Given the description of an element on the screen output the (x, y) to click on. 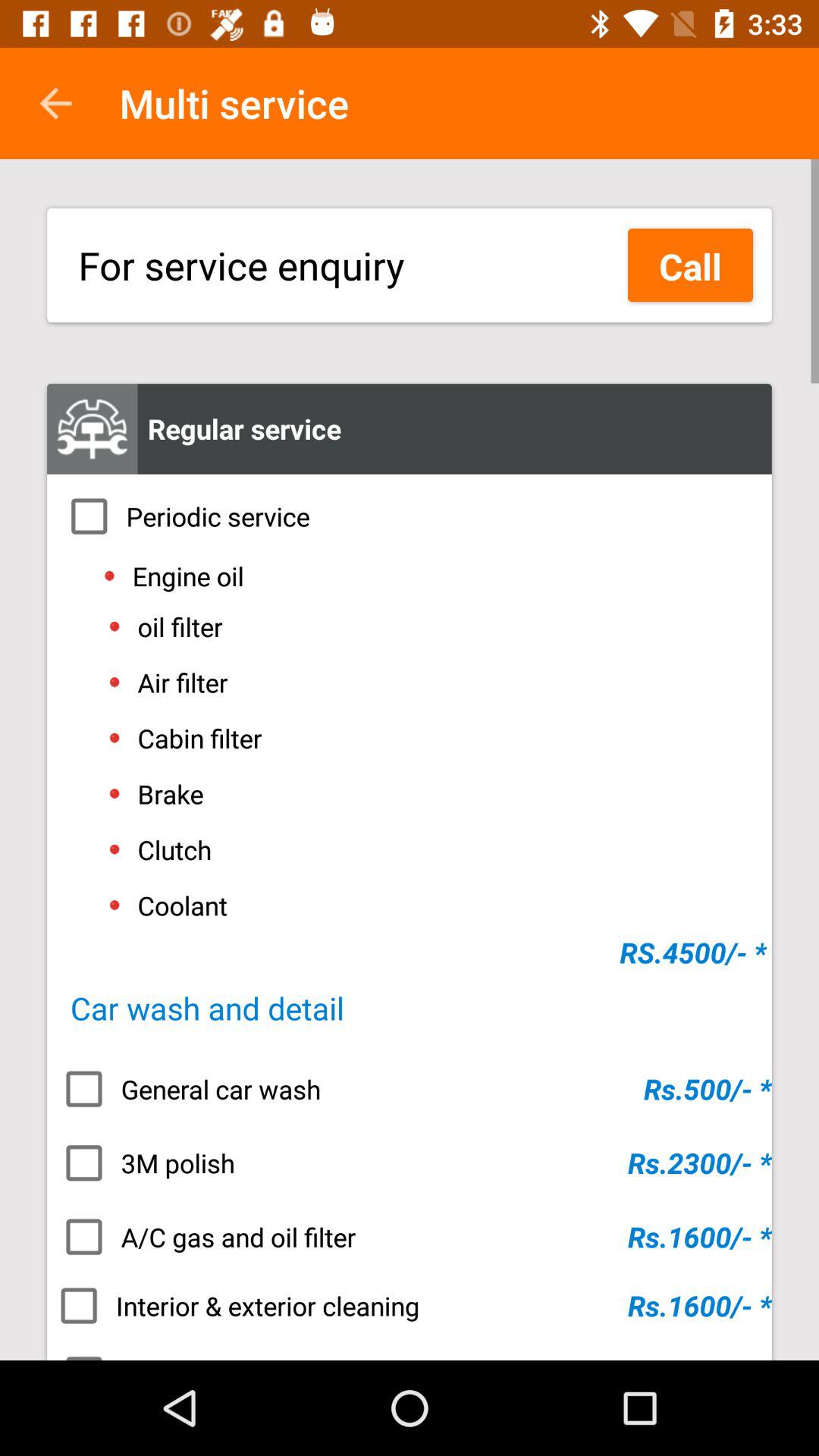
click icon above the teflon coating item (409, 1305)
